Given the description of an element on the screen output the (x, y) to click on. 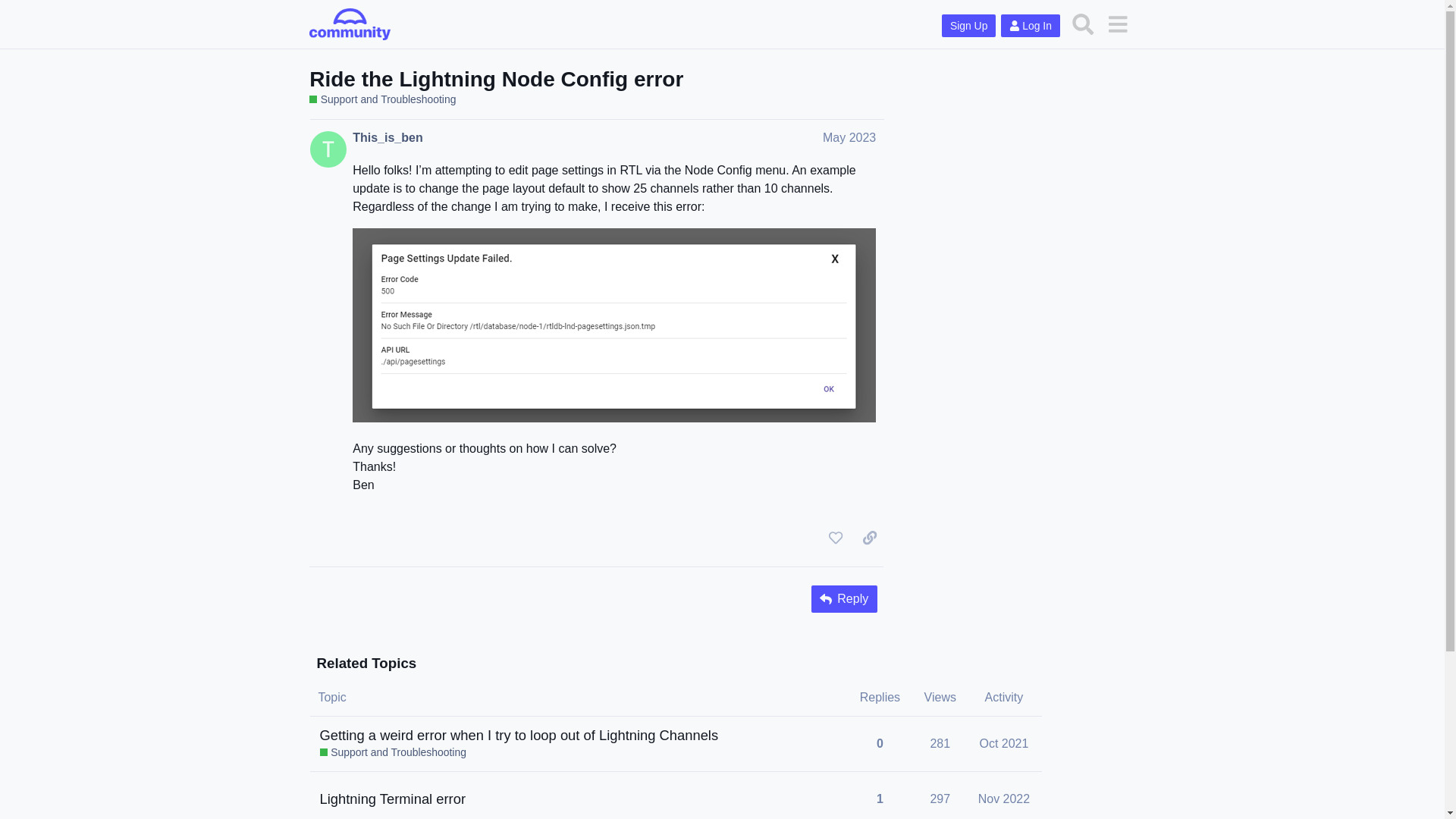
Ride the Lightning Node Config error (495, 78)
copy a link to this post to clipboard (869, 537)
image (614, 325)
like this post (1005, 748)
Nov 2022 (835, 537)
Oct 2021 (1003, 798)
Lightning Terminal error (1003, 743)
Sign Up (392, 798)
this topic has been viewed 297 times (968, 25)
this topic has been viewed 281 times (940, 798)
Search (940, 743)
Get help with your Umbrel. (1005, 795)
